Given the description of an element on the screen output the (x, y) to click on. 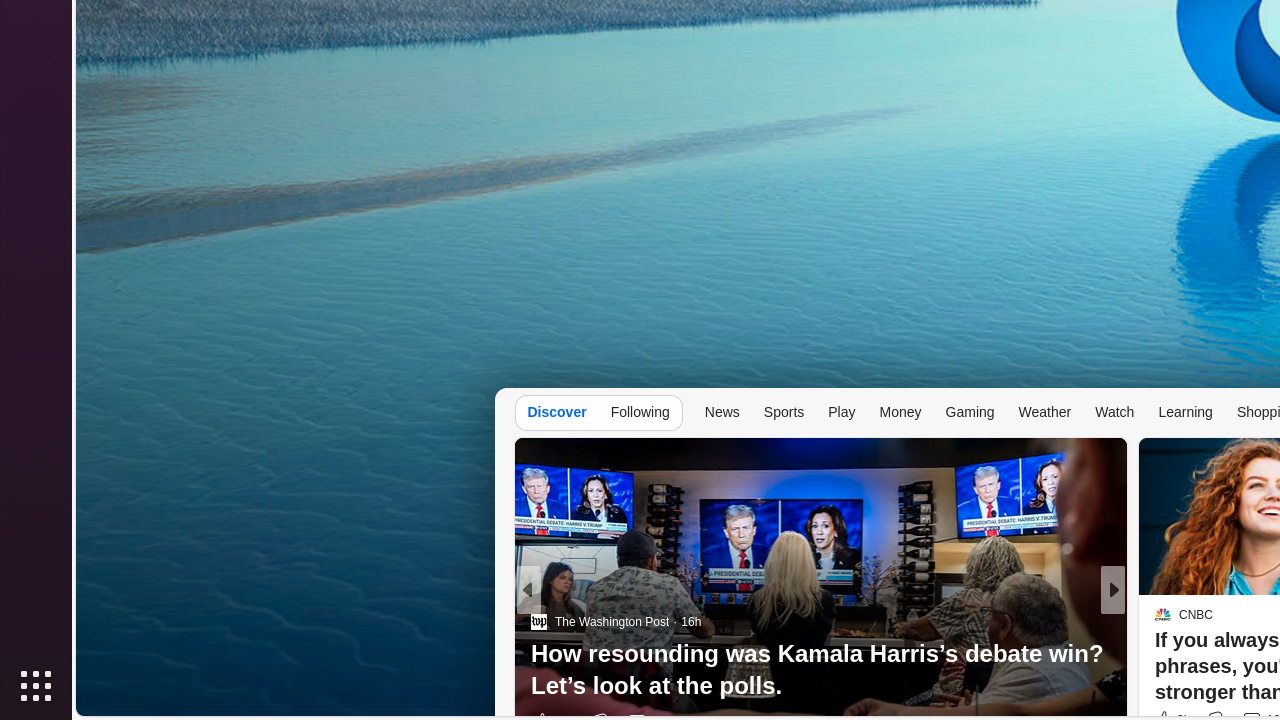
Following Element type: link (640, 412)
How resounding was Kamala Harris’s debate win? Let’s look at the polls. Element type: link (820, 670)
Watch Element type: link (1115, 412)
